Given the description of an element on the screen output the (x, y) to click on. 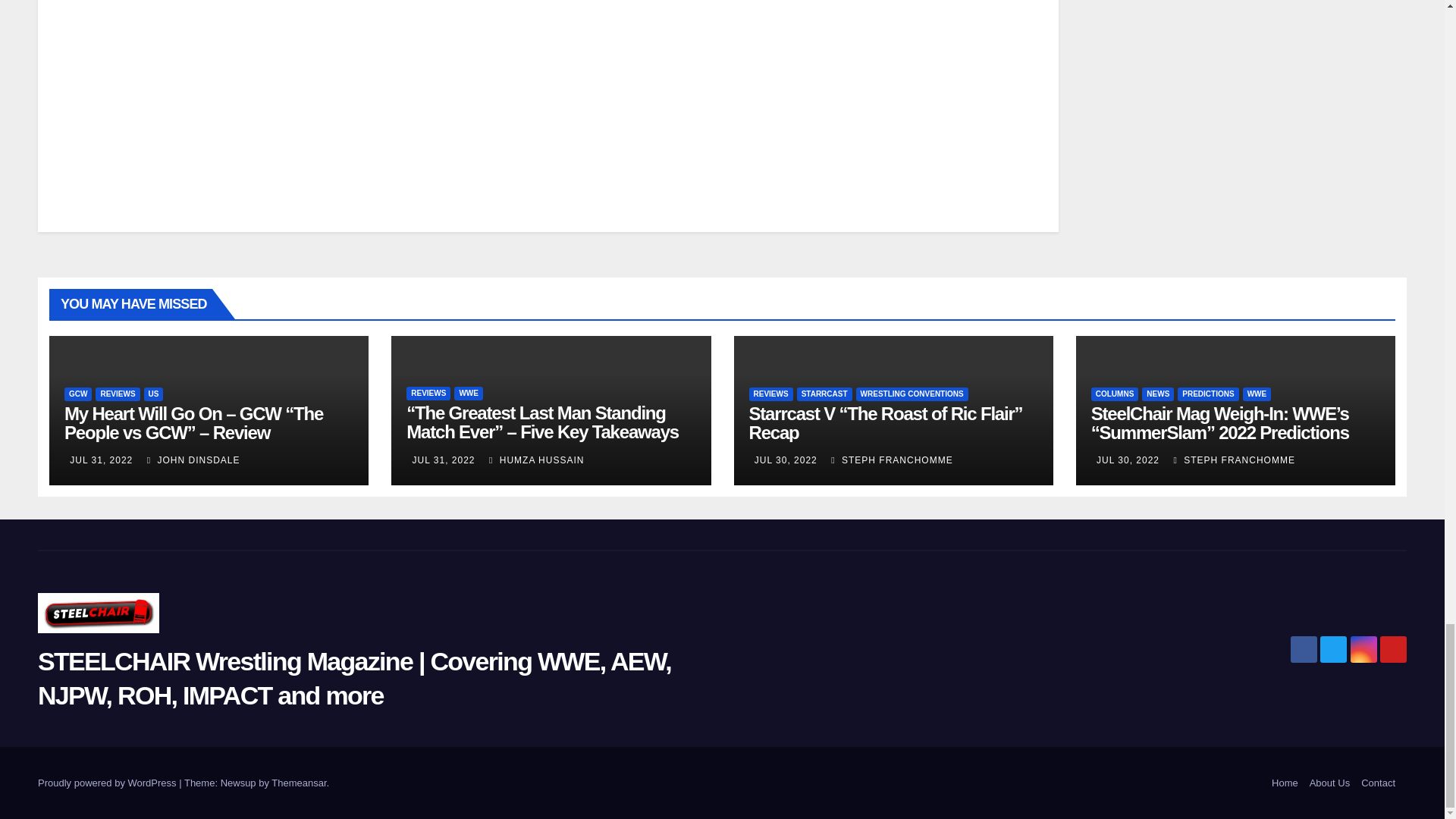
Home (1284, 782)
